Given the description of an element on the screen output the (x, y) to click on. 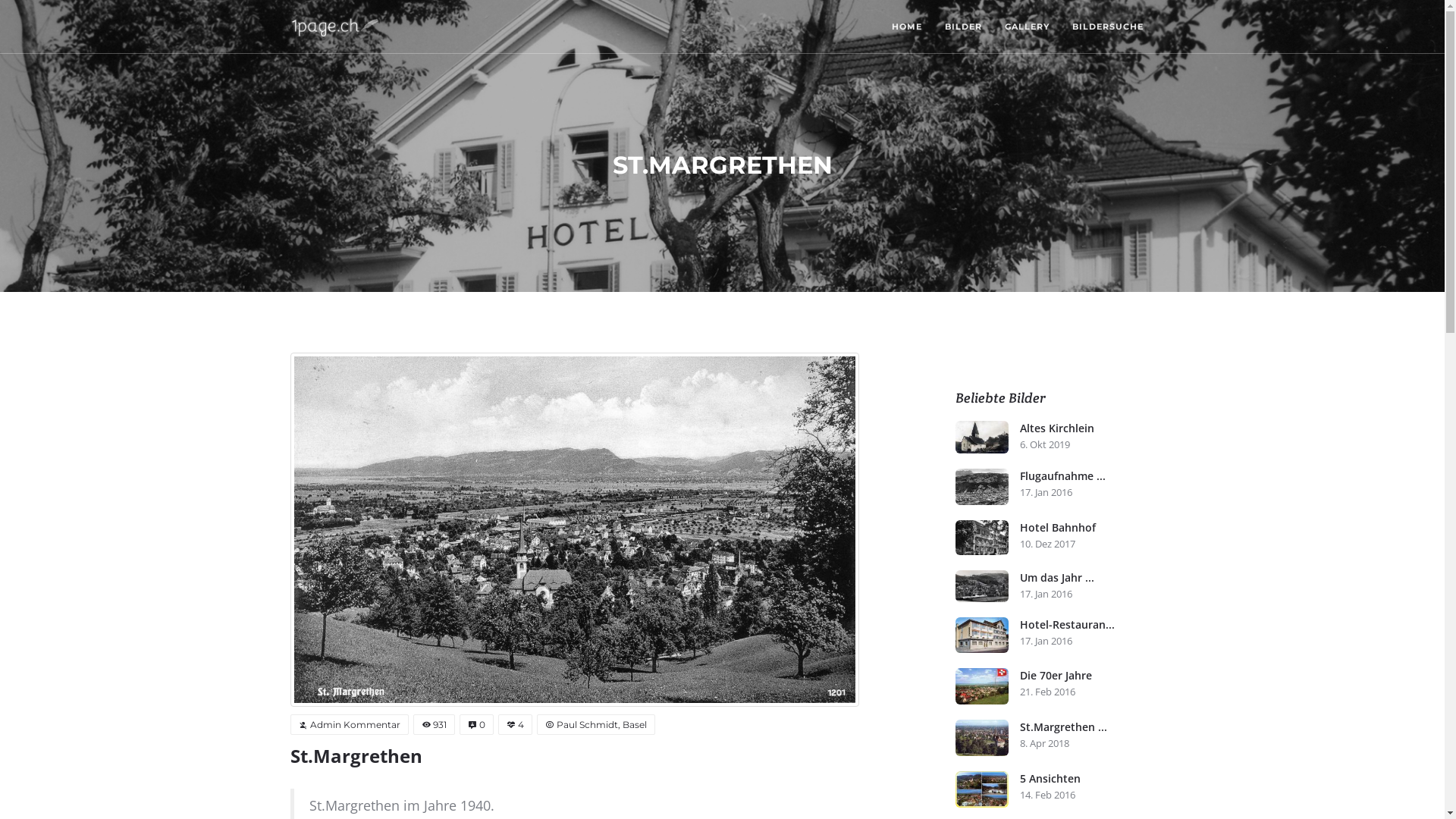
4 Element type: text (514, 724)
Paul Schmidt, Basel Element type: text (595, 724)
Die 70er Jahre Element type: text (1086, 675)
5 Ansichten Element type: text (1086, 778)
HOME Element type: text (905, 26)
Altes Kirchlein Element type: hover (981, 436)
5 Ansichten Element type: hover (981, 789)
Altes Kirchlein Element type: text (1086, 428)
Um das Jahr ... Element type: text (1086, 577)
St.Margrethen ... Element type: text (1086, 726)
BILDER Element type: text (962, 26)
Hotel Bahnhof Element type: text (1086, 527)
Hotel-Restaurant Krone Element type: hover (981, 634)
Um das Jahr 1928 Element type: hover (981, 586)
Flugaufnahme ... Element type: text (1086, 475)
Hotel Bahnhof Element type: hover (981, 537)
St.Margrethen mit Bodensee Element type: hover (981, 737)
Hotel-Restauran... Element type: text (1086, 624)
0 Element type: text (476, 724)
GALLERY Element type: text (1026, 26)
Die 70er Jahre Element type: hover (981, 686)
931 Element type: text (433, 724)
Admin Kommentar Element type: text (348, 724)
BILDERSUCHE Element type: text (1107, 26)
